Given the description of an element on the screen output the (x, y) to click on. 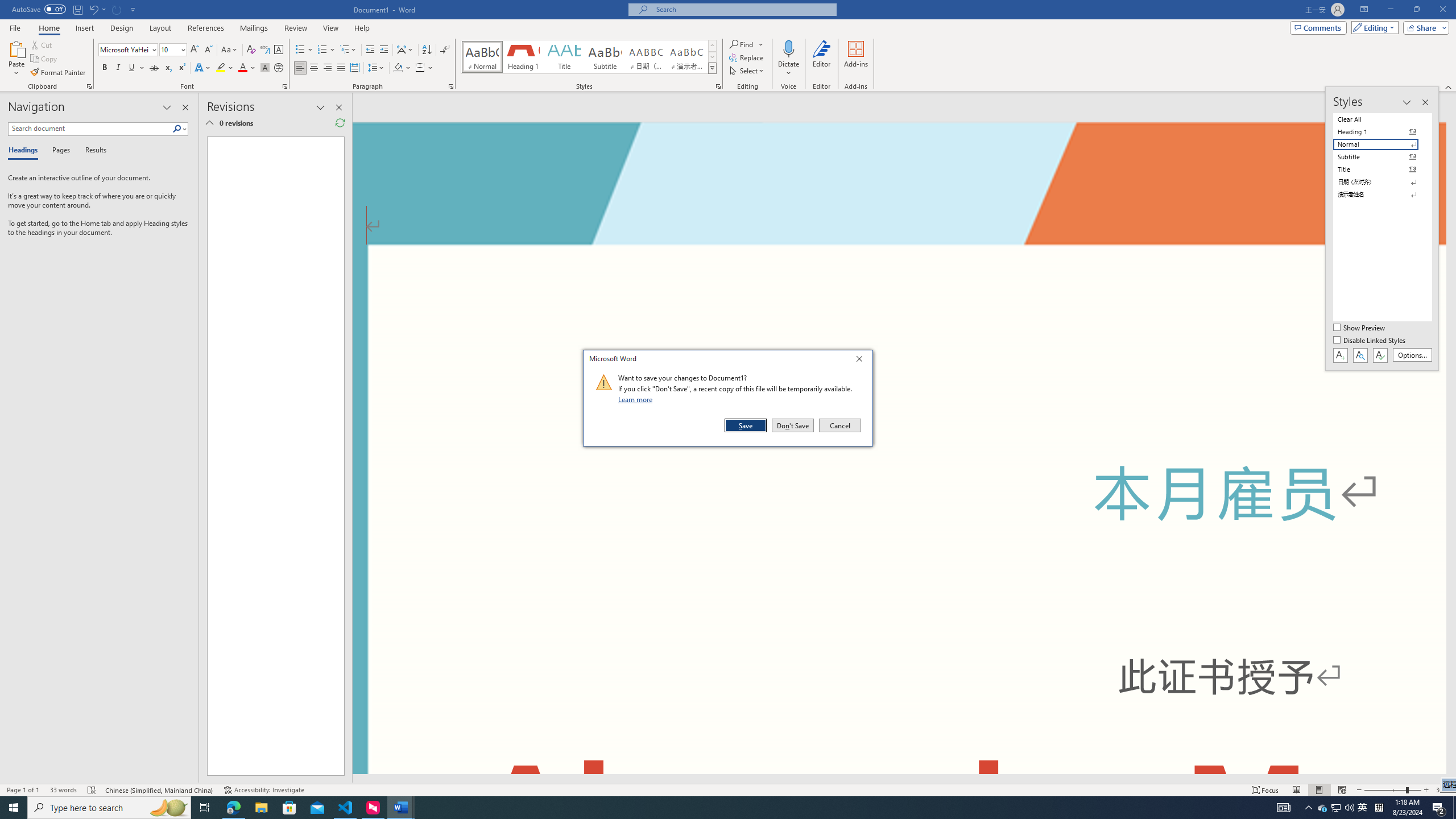
Borders (424, 67)
Cancel (839, 425)
Font Size (169, 49)
Bullets (300, 49)
Task View (204, 807)
Bullets (304, 49)
Design (122, 28)
Class: NetUIButton (1380, 355)
Styles... (717, 85)
Running applications (700, 807)
Character Shading (264, 67)
Zoom 308% (1443, 790)
Class: MsoCommandBar (728, 789)
Zoom Out (1385, 790)
